Given the description of an element on the screen output the (x, y) to click on. 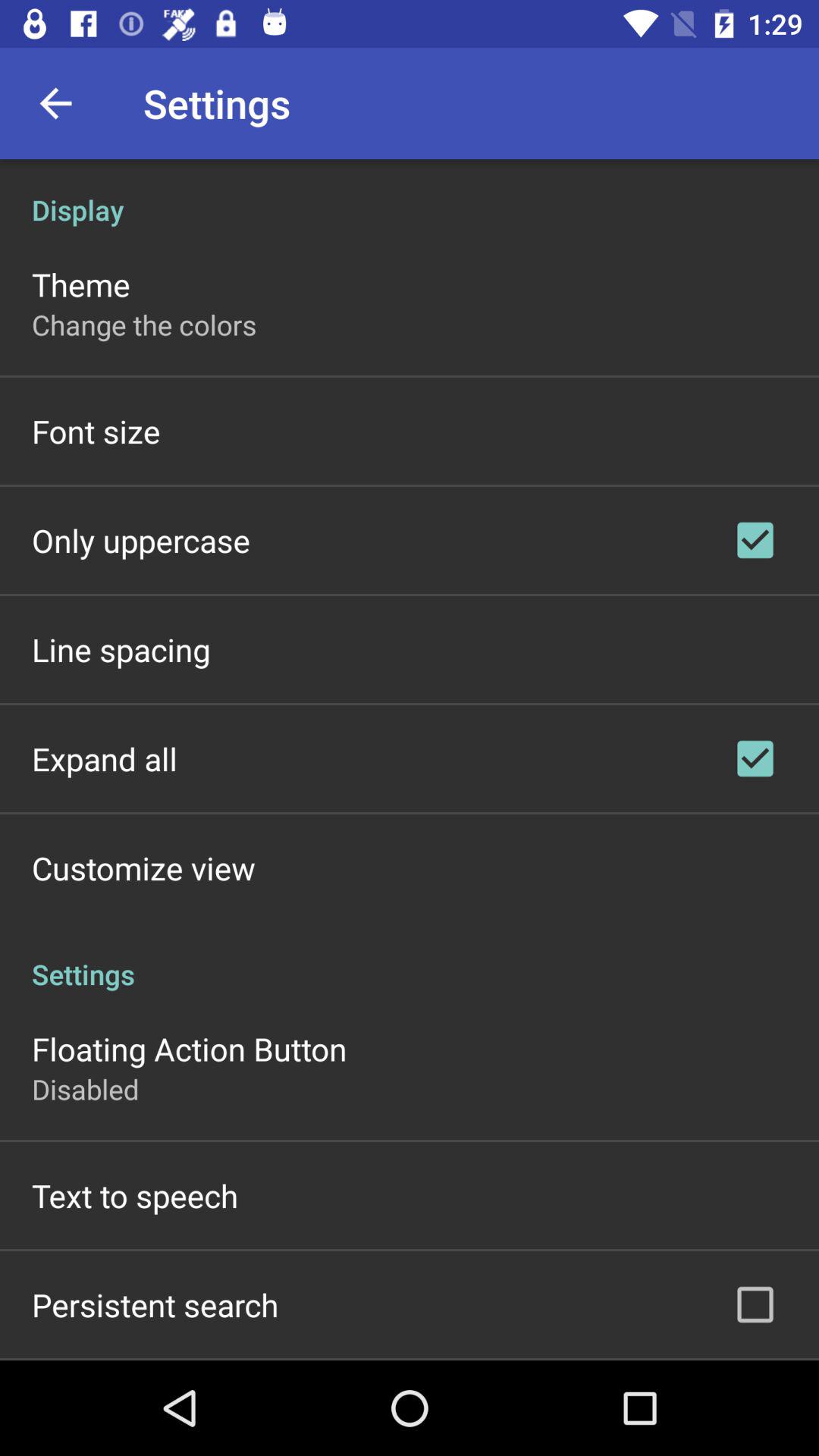
select item above the change the colors (80, 283)
